Given the description of an element on the screen output the (x, y) to click on. 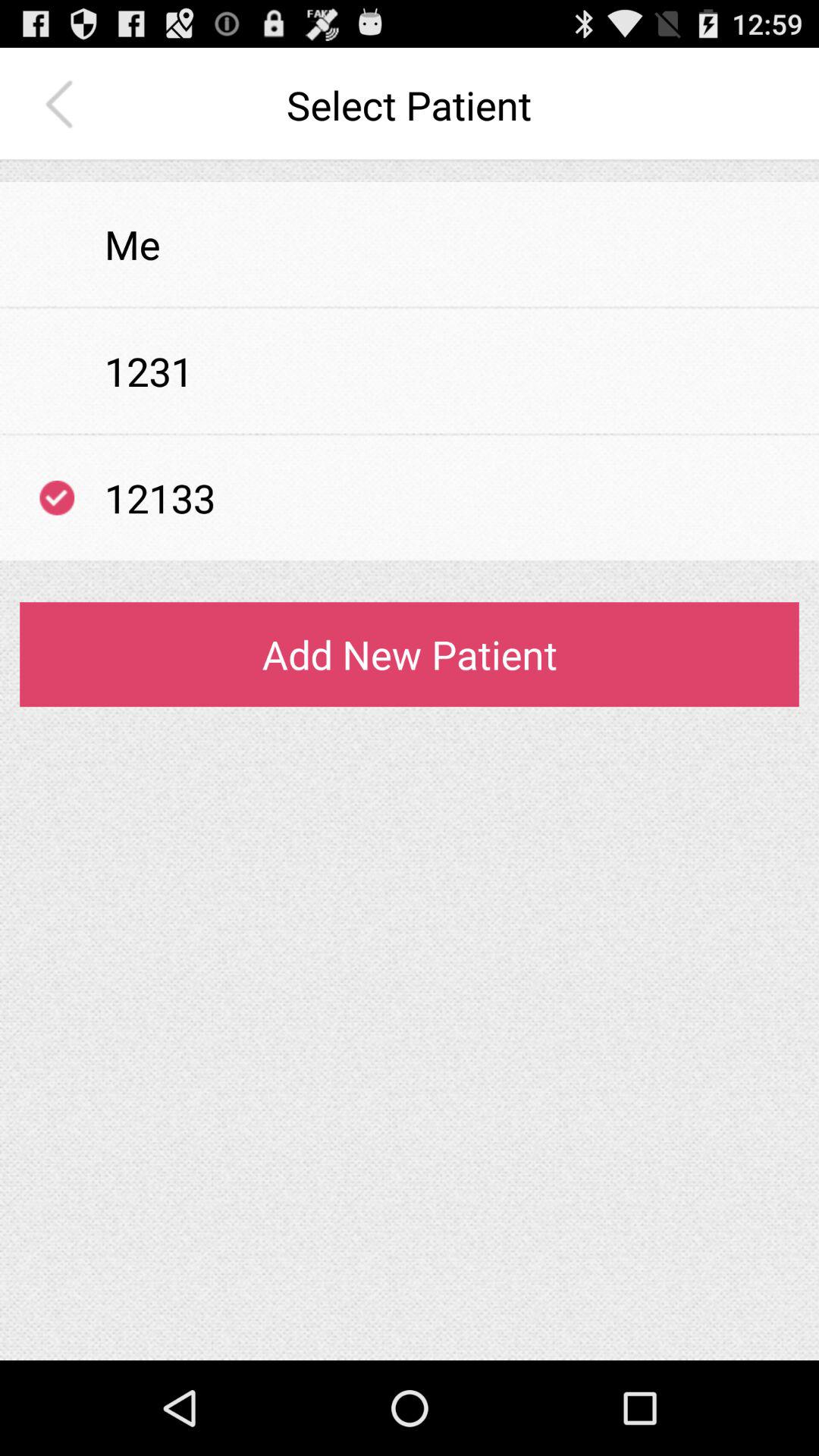
select add new patient item (409, 654)
